Given the description of an element on the screen output the (x, y) to click on. 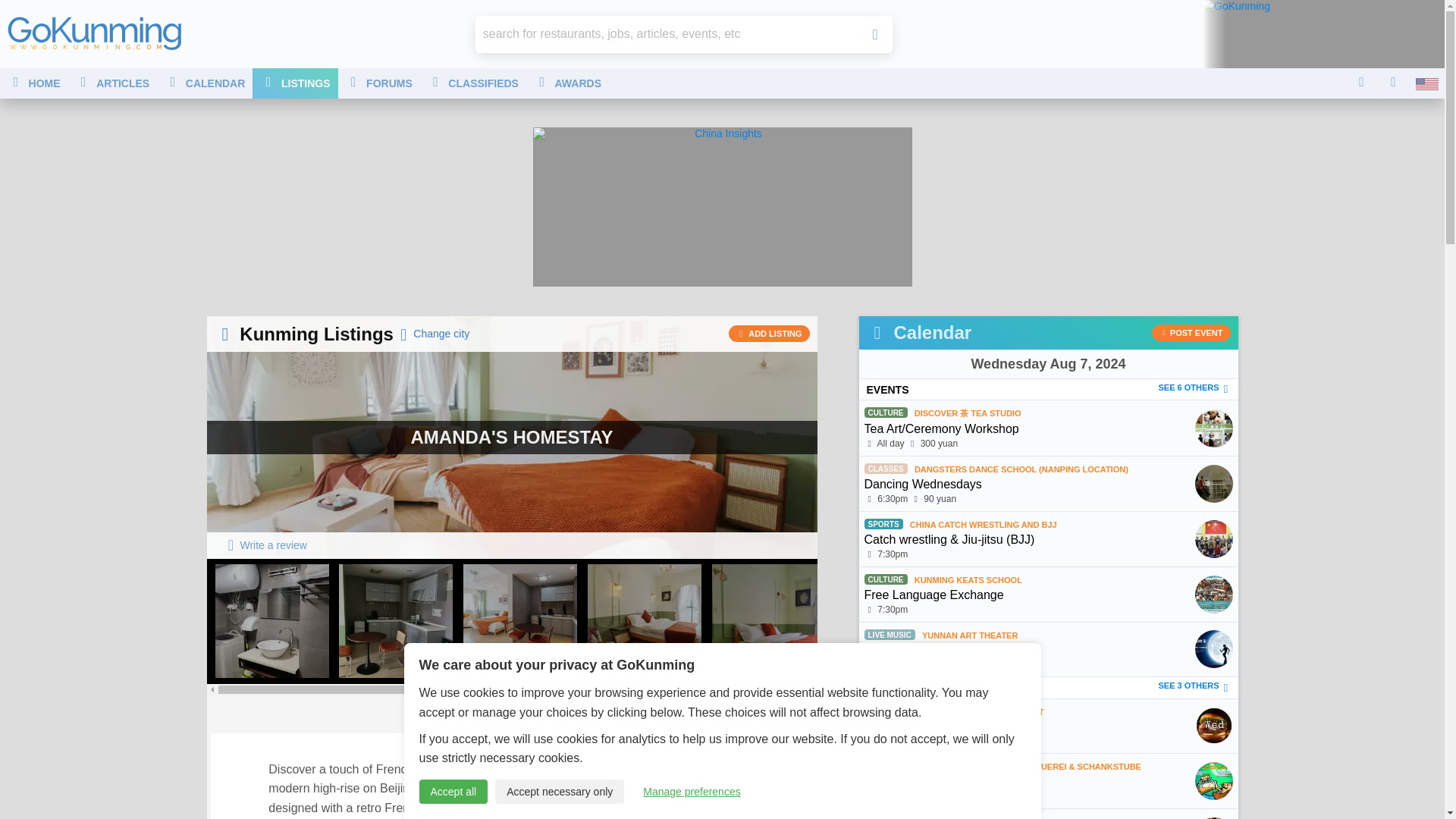
CLASSIFIEDS (472, 82)
Open the calendar (1048, 363)
AWARDS (566, 82)
HOME (34, 82)
CALENDAR (204, 82)
GoKunming (94, 33)
FORUMS (378, 82)
ARTICLES (112, 82)
LISTINGS (294, 82)
